Given the description of an element on the screen output the (x, y) to click on. 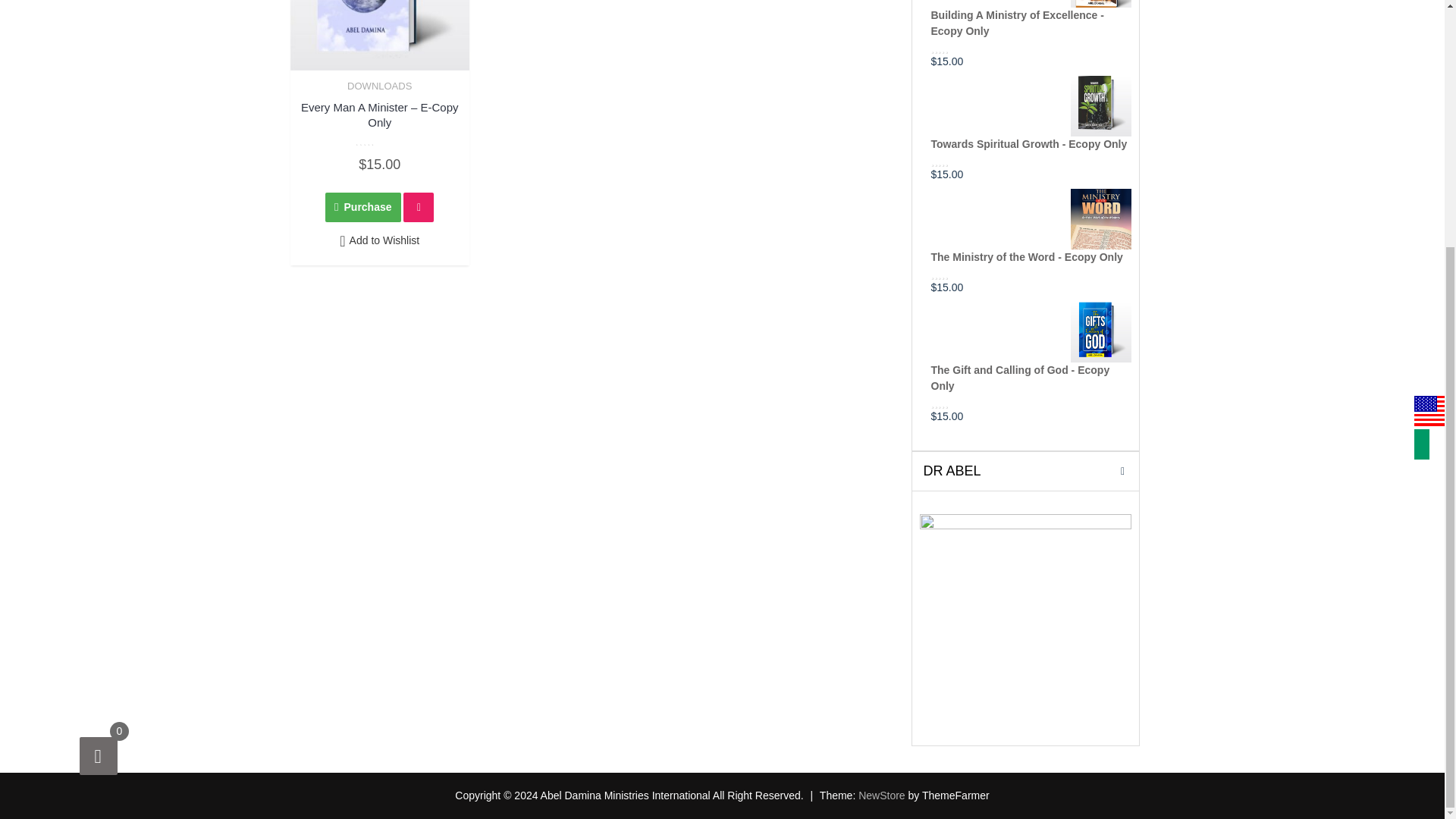
Add to Wishlist (379, 240)
No Review (959, 161)
The Ministry of the Word - Ecopy Only (1031, 228)
No Review (959, 402)
Towards Spiritual Growth - Ecopy Only (1031, 116)
No Review (379, 140)
Compare (418, 206)
The Gift and Calling of God - Ecopy Only (1031, 350)
DOWNLOADS (379, 85)
NewStore (881, 795)
